Given the description of an element on the screen output the (x, y) to click on. 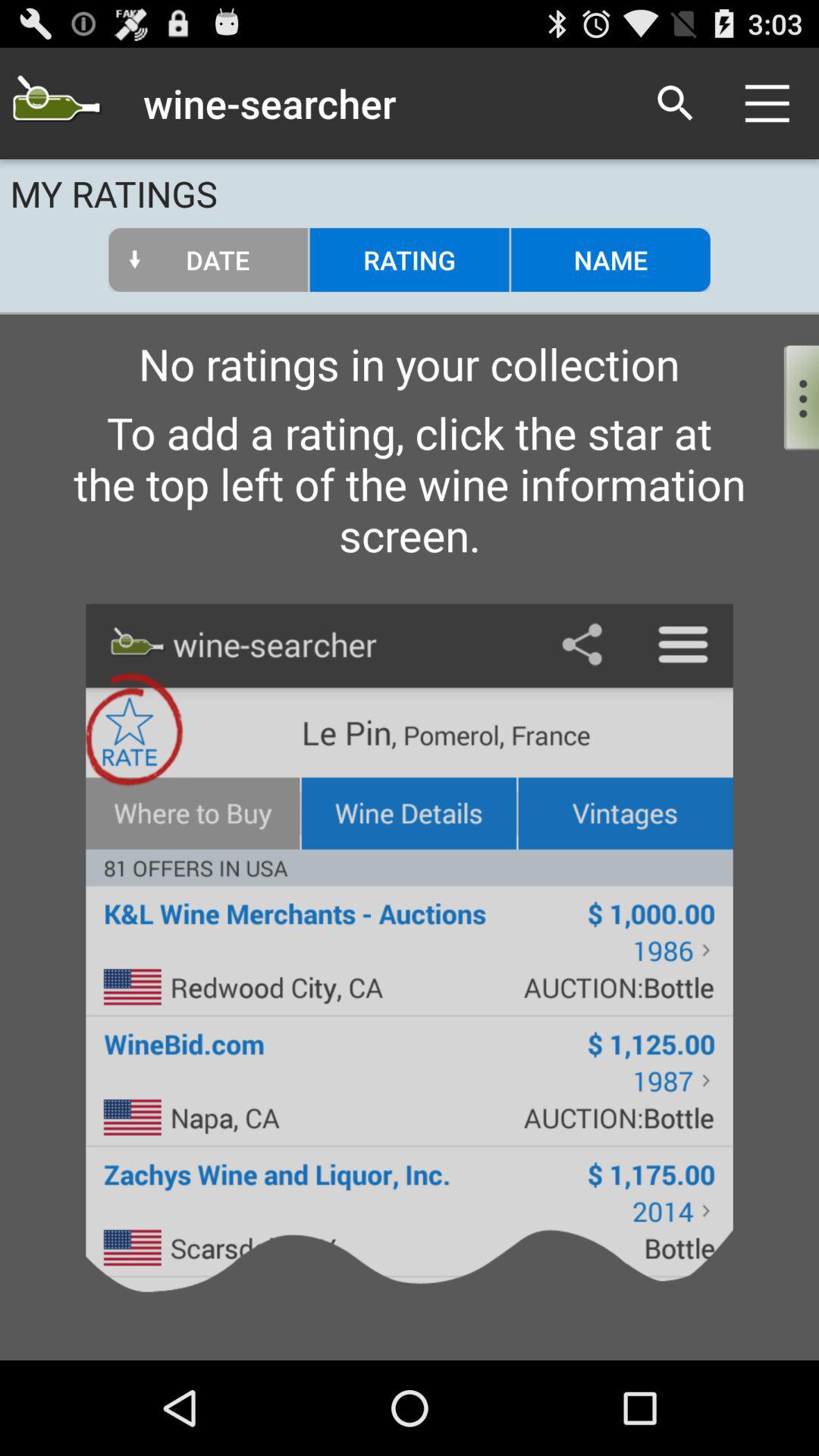
search for a wine (55, 103)
